Given the description of an element on the screen output the (x, y) to click on. 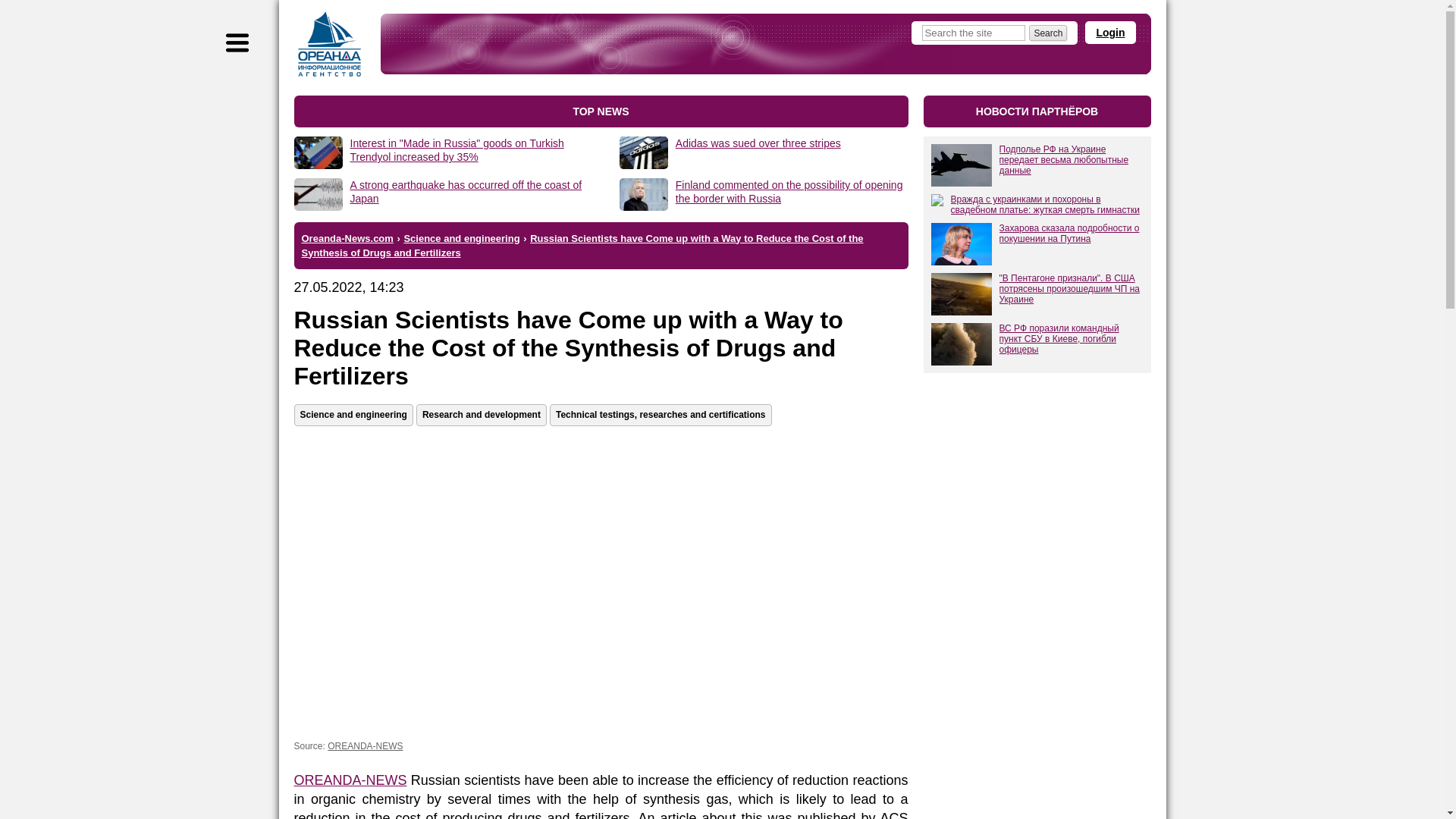
Oreanda-News.com (347, 237)
Search (1048, 32)
Search (1048, 32)
A strong earthquake has occurred off the coast of Japan (466, 191)
OREANDA-NEWS (350, 780)
Science and engineering (461, 237)
Technical testings, researches and certifications (660, 414)
Login (1109, 32)
OREANDA-NEWS (365, 746)
Science and engineering (353, 414)
Adidas was sued over three stripes (758, 143)
To main page (329, 43)
Research and development (481, 414)
